Given the description of an element on the screen output the (x, y) to click on. 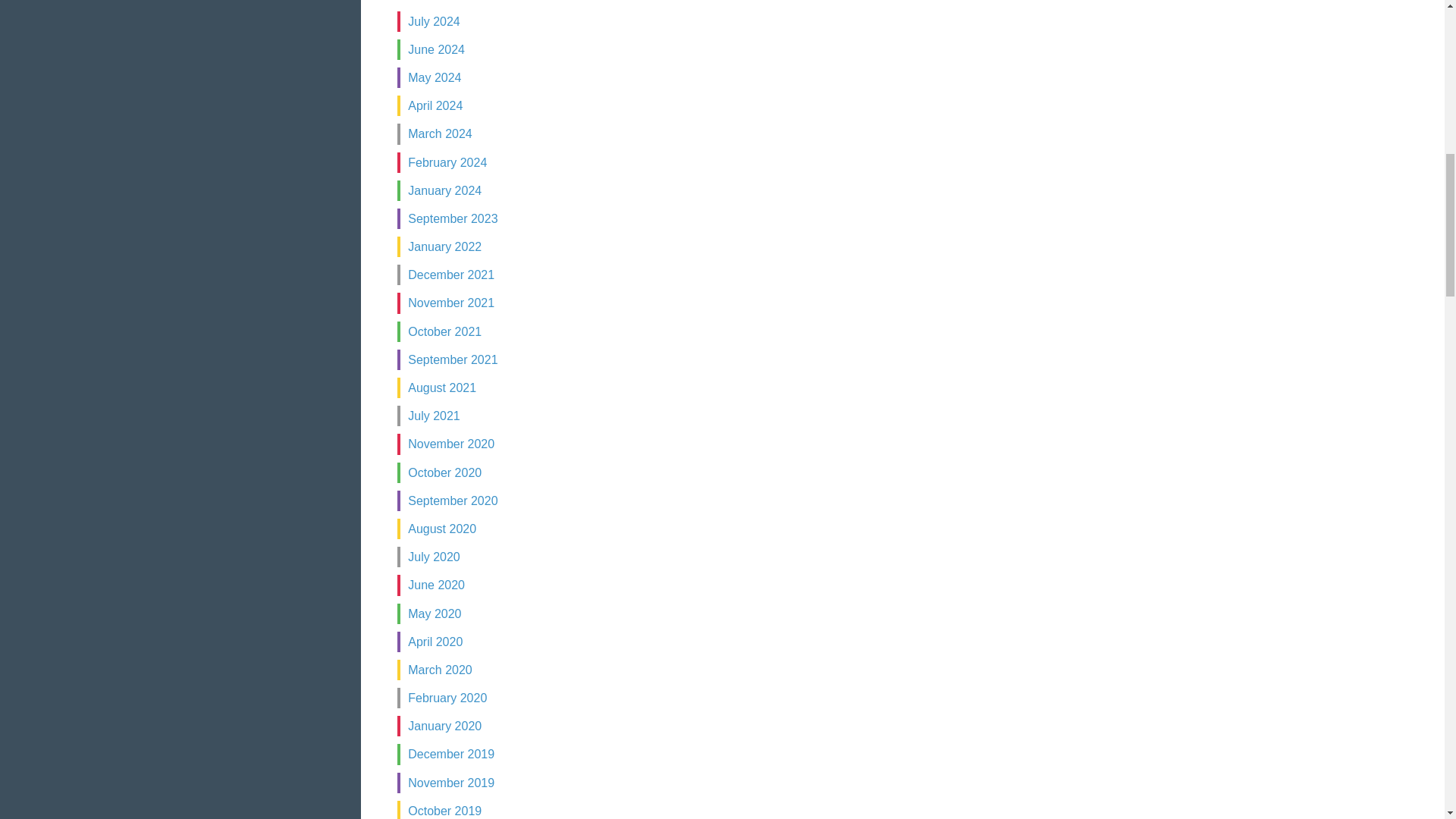
October 2020 (444, 472)
June 2024 (435, 49)
February 2024 (446, 162)
October 2021 (444, 331)
January 2022 (444, 246)
August 2020 (441, 528)
January 2024 (444, 190)
September 2023 (452, 218)
September 2020 (452, 500)
June 2020 (435, 584)
December 2019 (451, 753)
May 2020 (434, 613)
March 2024 (439, 133)
April 2020 (435, 641)
December 2021 (451, 274)
